Given the description of an element on the screen output the (x, y) to click on. 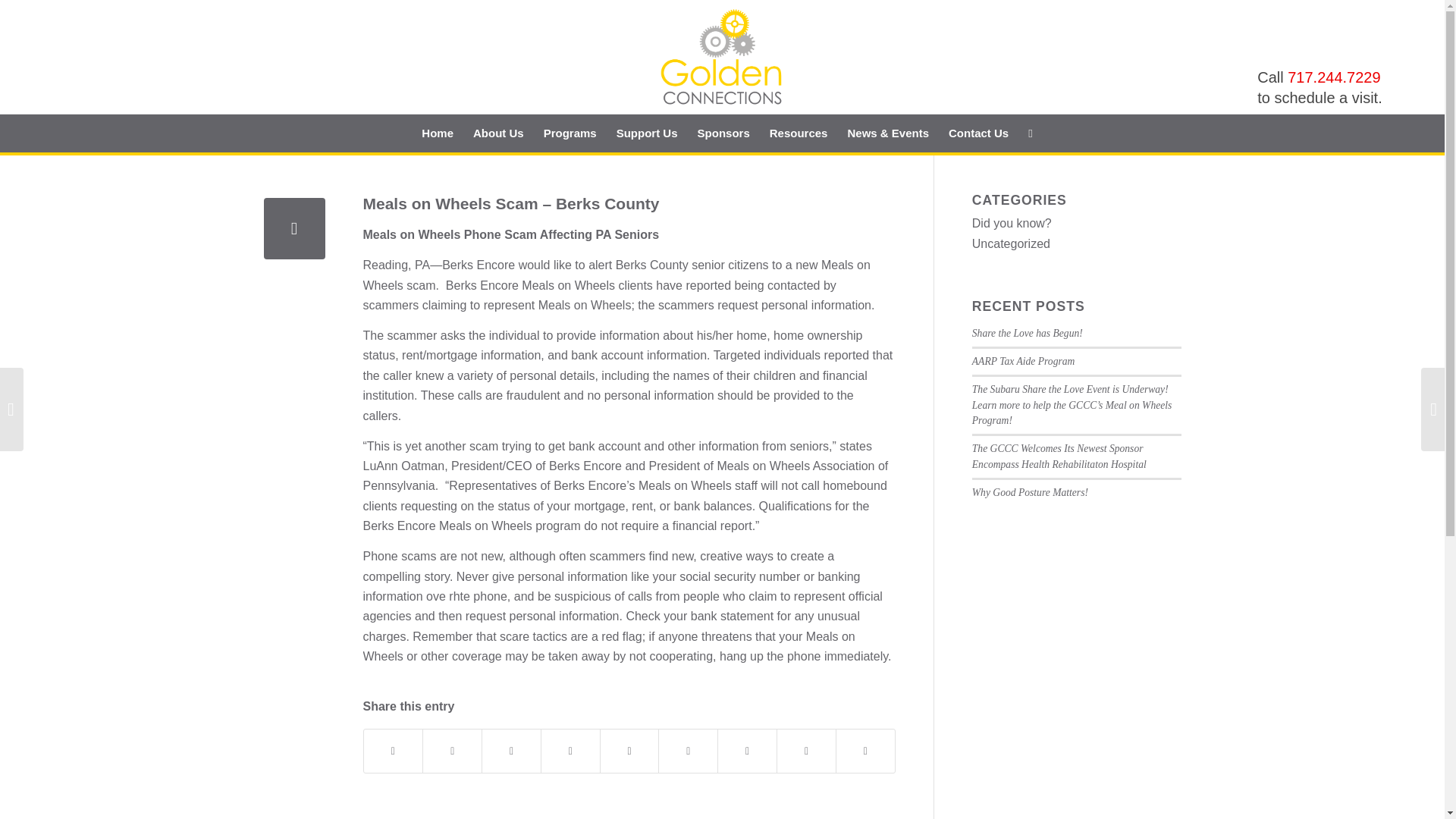
Support Us (647, 133)
Resources (799, 133)
Programs (570, 133)
Meals on Wheels Scam - Berks County (293, 228)
About Us (498, 133)
717.244.7229 (1333, 76)
Contact Us (978, 133)
Golden Connections Logo (721, 56)
Home (437, 133)
Sponsors (723, 133)
